Given the description of an element on the screen output the (x, y) to click on. 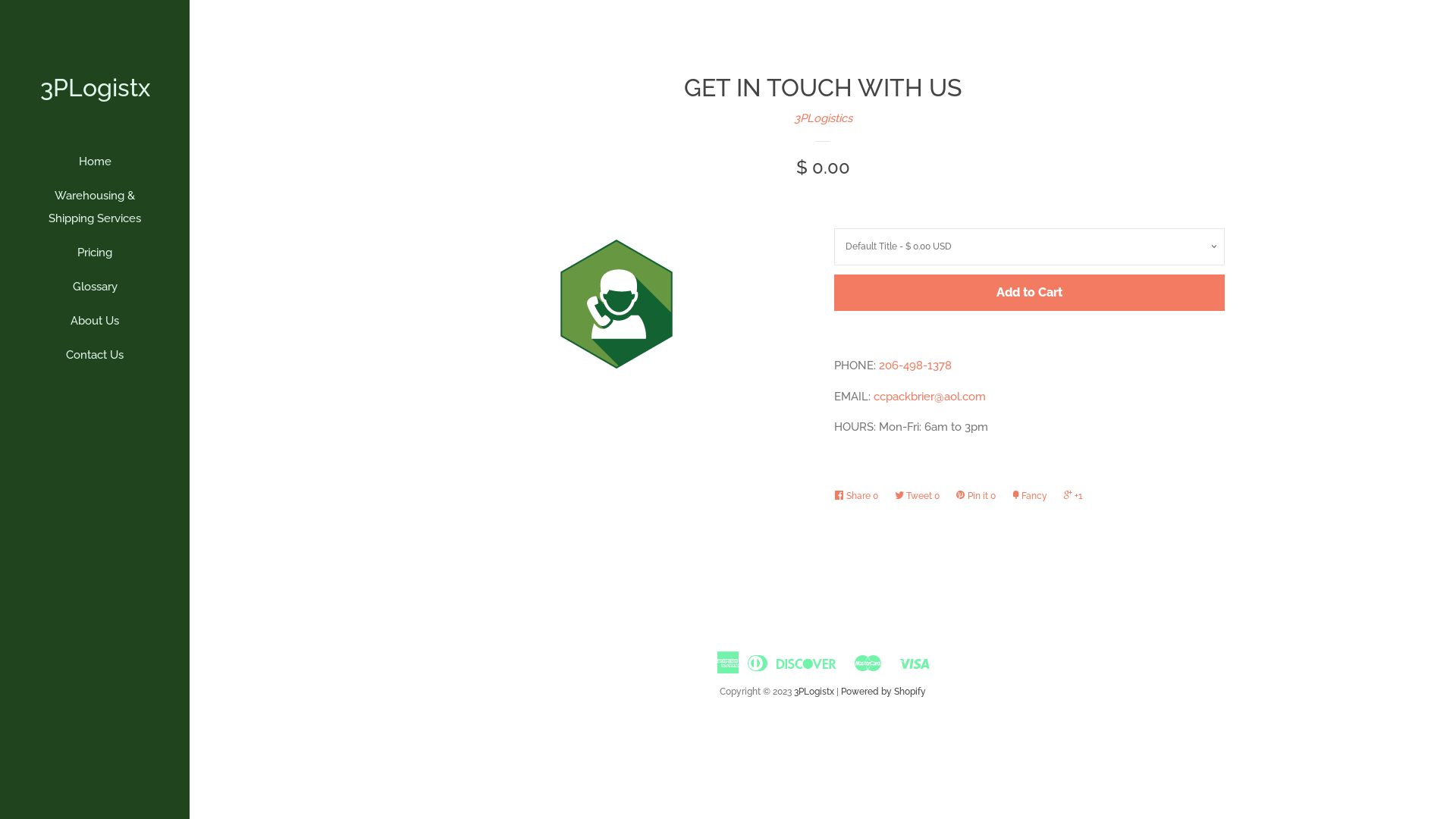
Contact Us Element type: text (94, 360)
Add to Cart Element type: text (1029, 292)
Pin it 0 Element type: text (979, 495)
+1 Element type: text (1076, 495)
Pricing Element type: text (94, 258)
Warehousing & Shipping Services Element type: text (94, 212)
ccpackbrier@aol.com Element type: text (929, 396)
Share 0 Element type: text (859, 495)
Glossary Element type: text (94, 292)
Home Element type: text (94, 167)
206-498-1378 Element type: text (914, 365)
Powered by Shopify Element type: text (882, 691)
About Us Element type: text (94, 326)
Fancy Element type: text (1032, 495)
3PLogistics Element type: text (822, 118)
3PLogistx Element type: text (813, 691)
3PLogistx Element type: text (94, 88)
Tweet 0 Element type: text (920, 495)
